Given the description of an element on the screen output the (x, y) to click on. 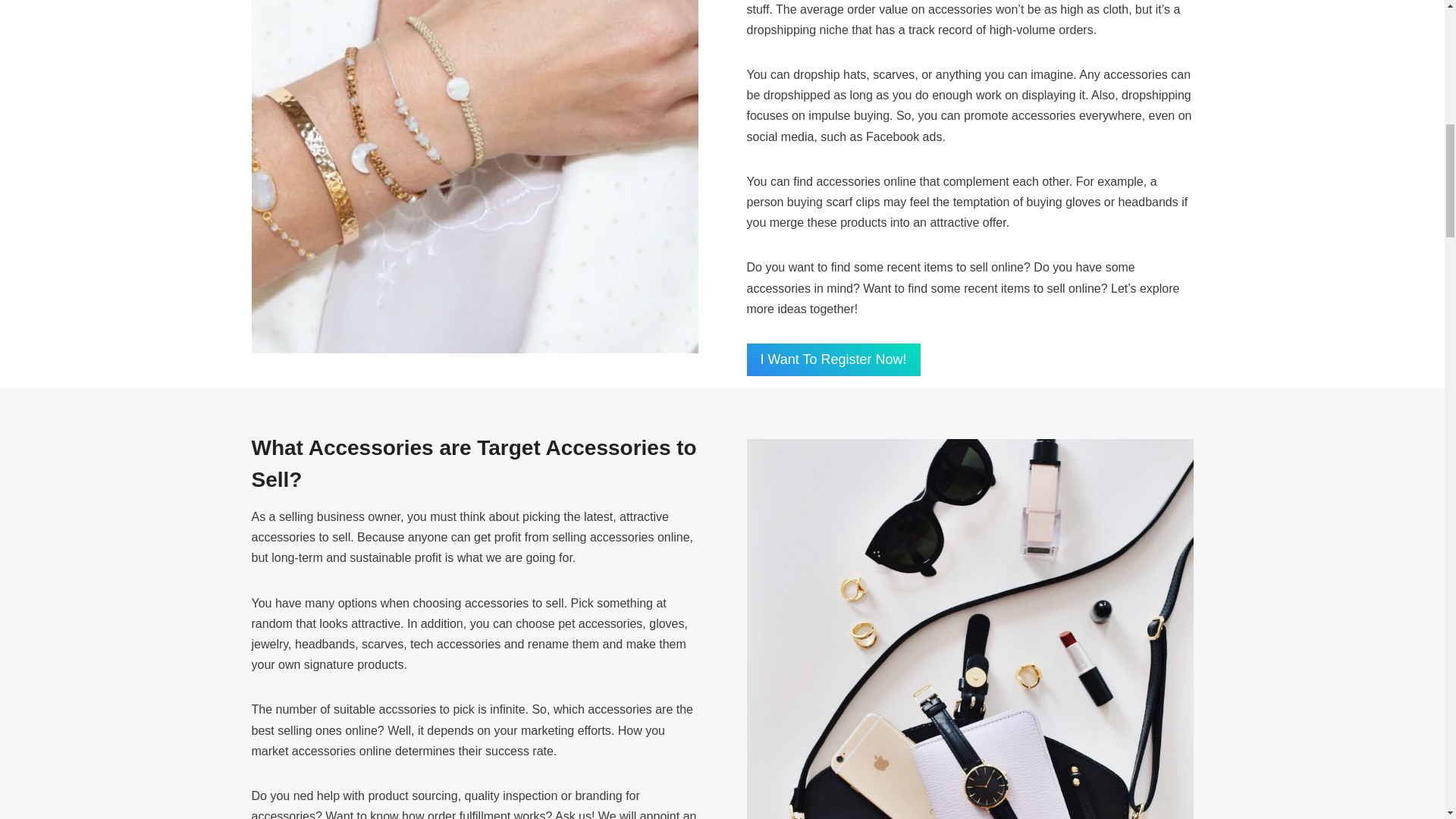
I Want To Register Now! (832, 359)
